Given the description of an element on the screen output the (x, y) to click on. 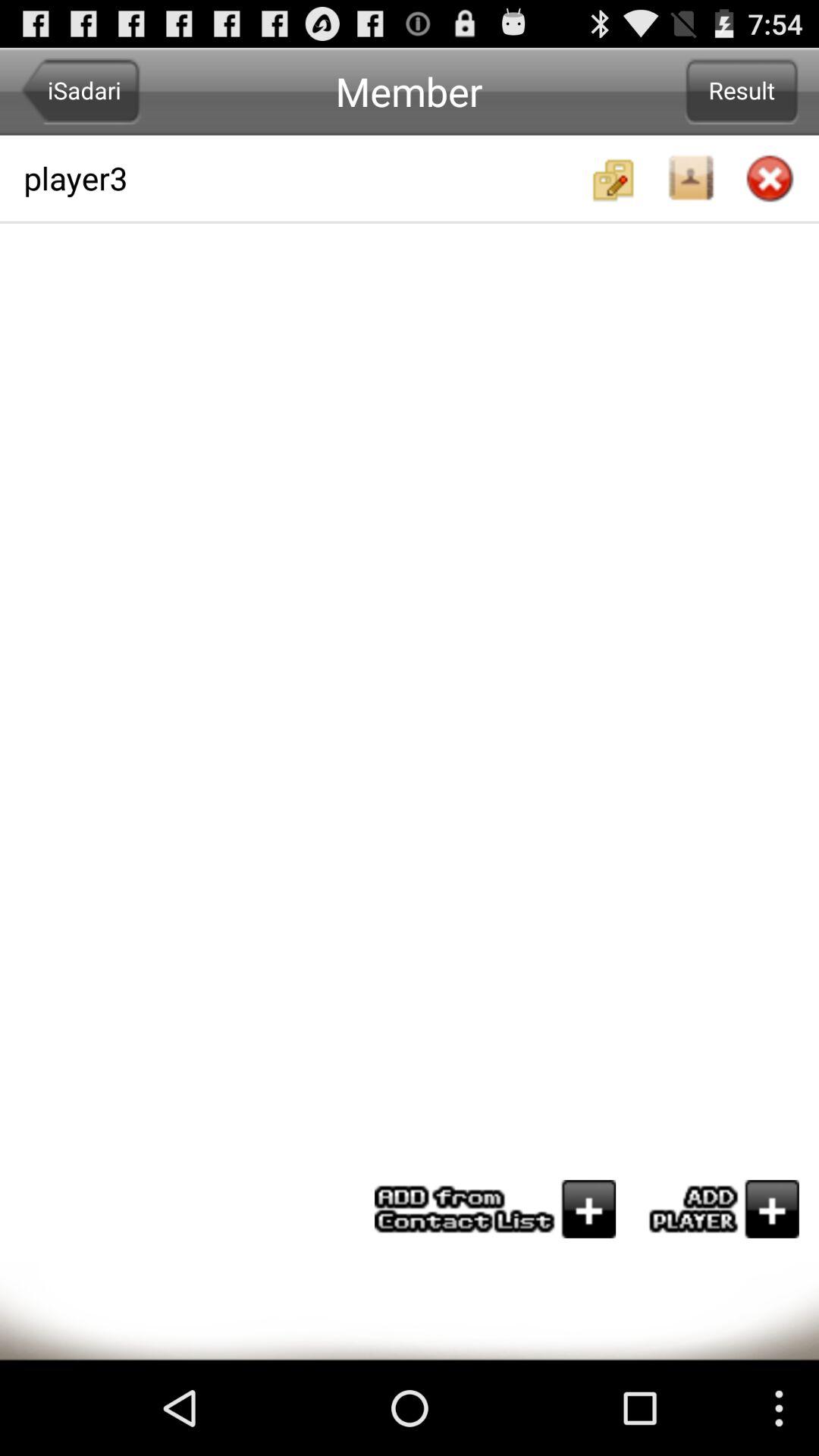
launch app next to the member item (80, 91)
